Given the description of an element on the screen output the (x, y) to click on. 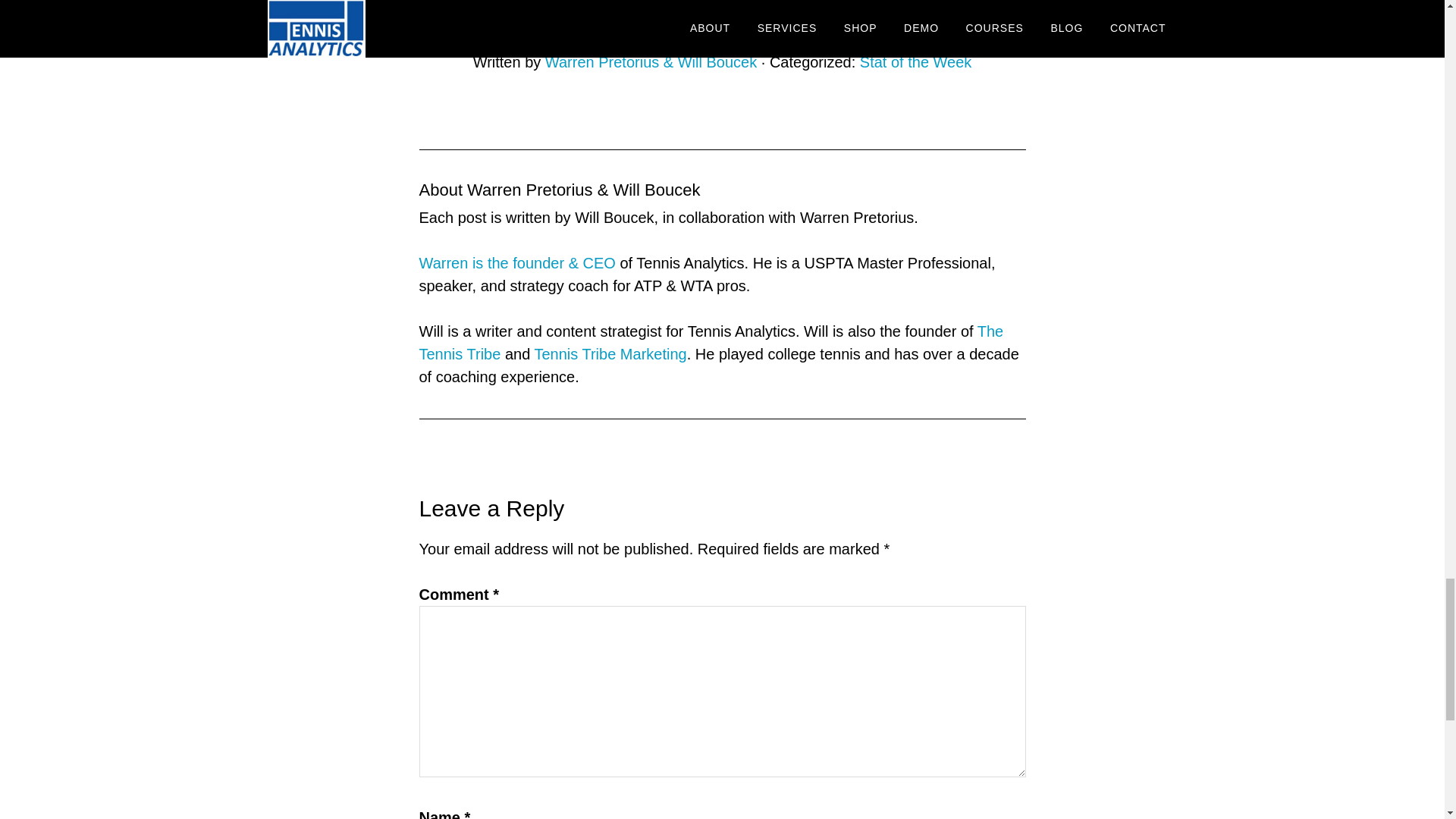
The Tennis Tribe (711, 342)
Tennis Tribe Marketing (609, 353)
Stat of the Week (916, 62)
